Given the description of an element on the screen output the (x, y) to click on. 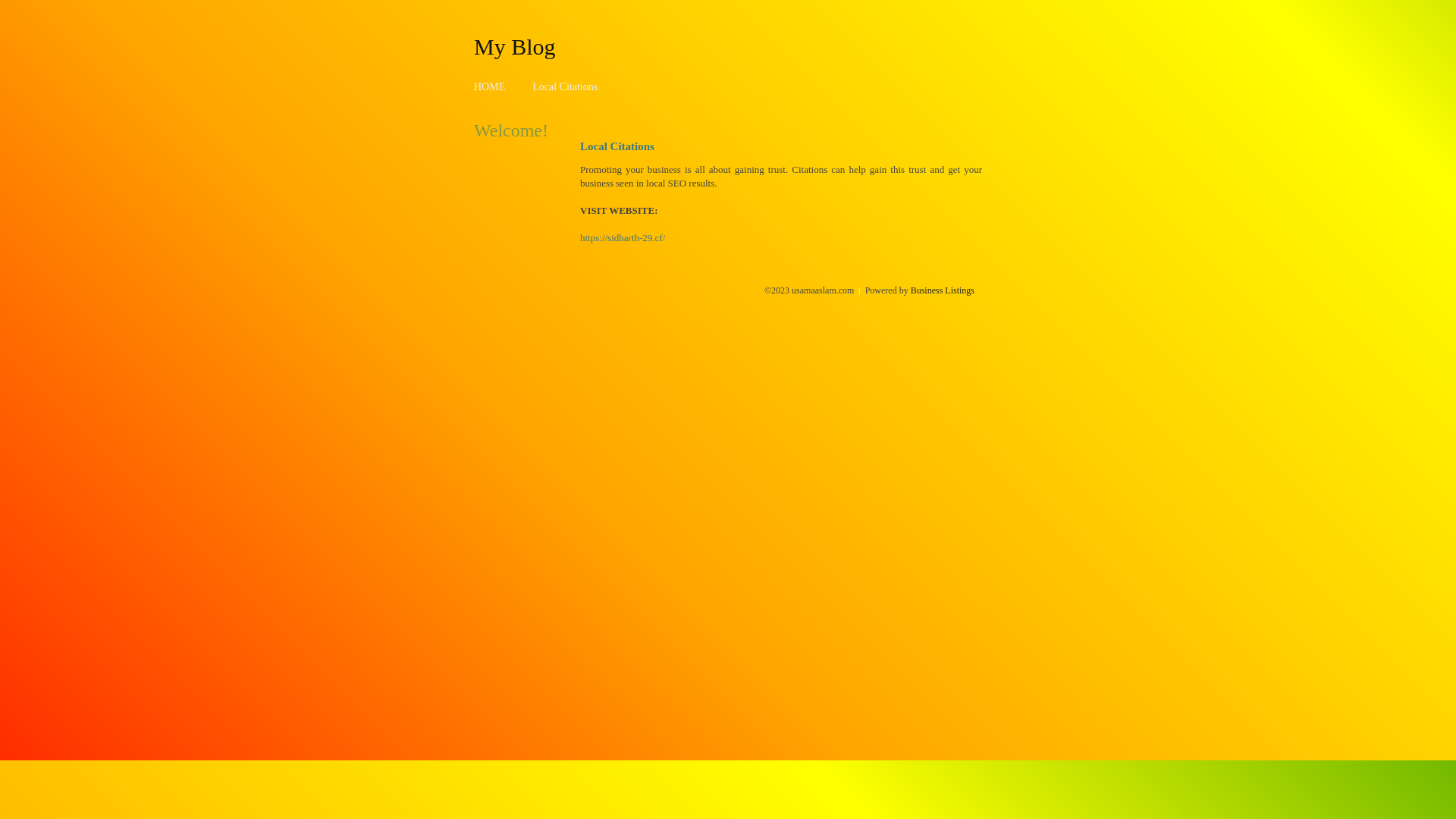
Business Listings Element type: text (942, 290)
https://sidharth-29.cf/ Element type: text (622, 237)
Local Citations Element type: text (564, 86)
HOME Element type: text (489, 86)
My Blog Element type: text (514, 46)
